Given the description of an element on the screen output the (x, y) to click on. 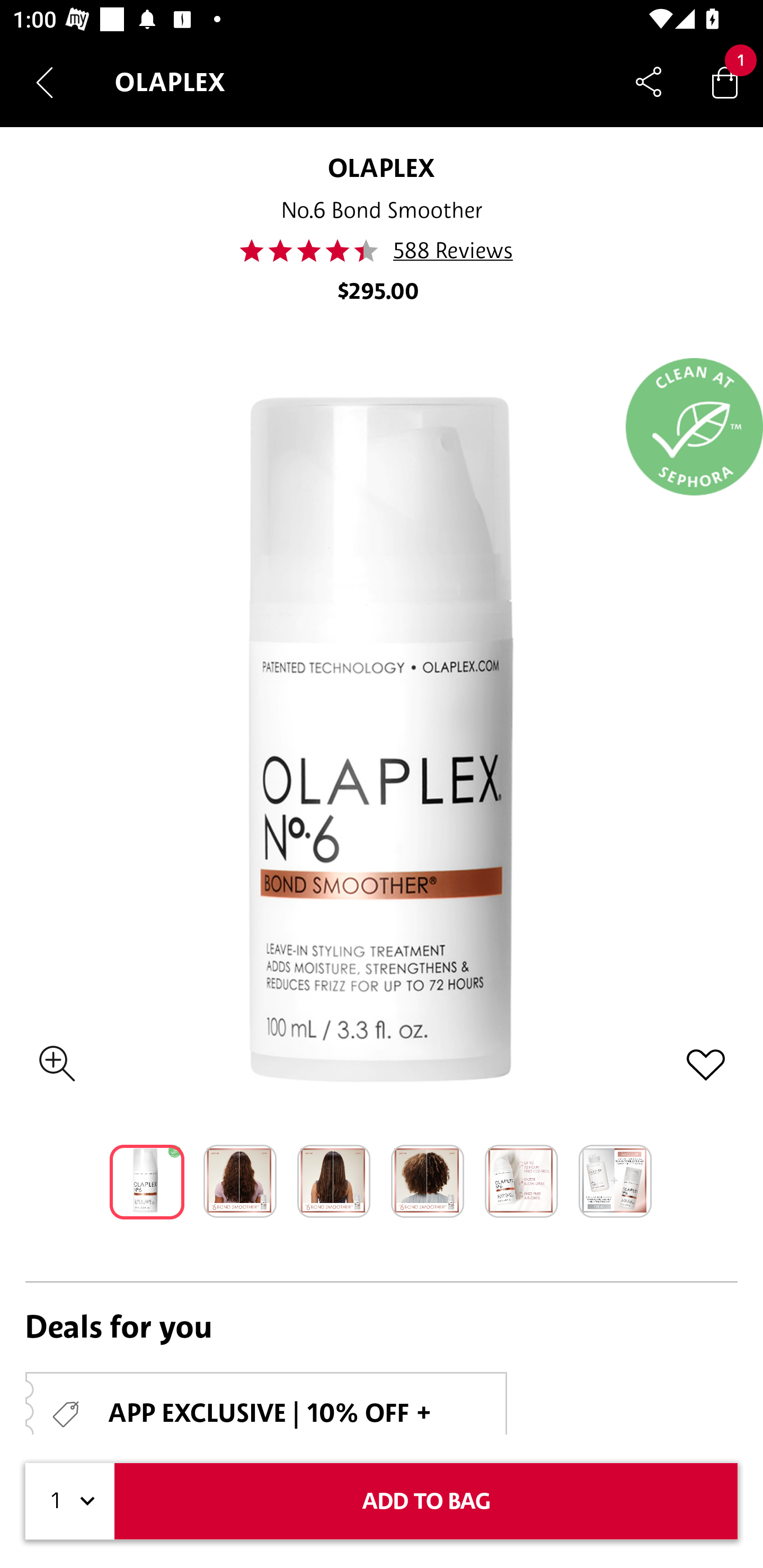
Navigate up (44, 82)
Share (648, 81)
Bag (724, 81)
OLAPLEX (381, 167)
44.0 588 Reviews (381, 250)
1 (69, 1500)
ADD TO BAG (425, 1500)
